Given the description of an element on the screen output the (x, y) to click on. 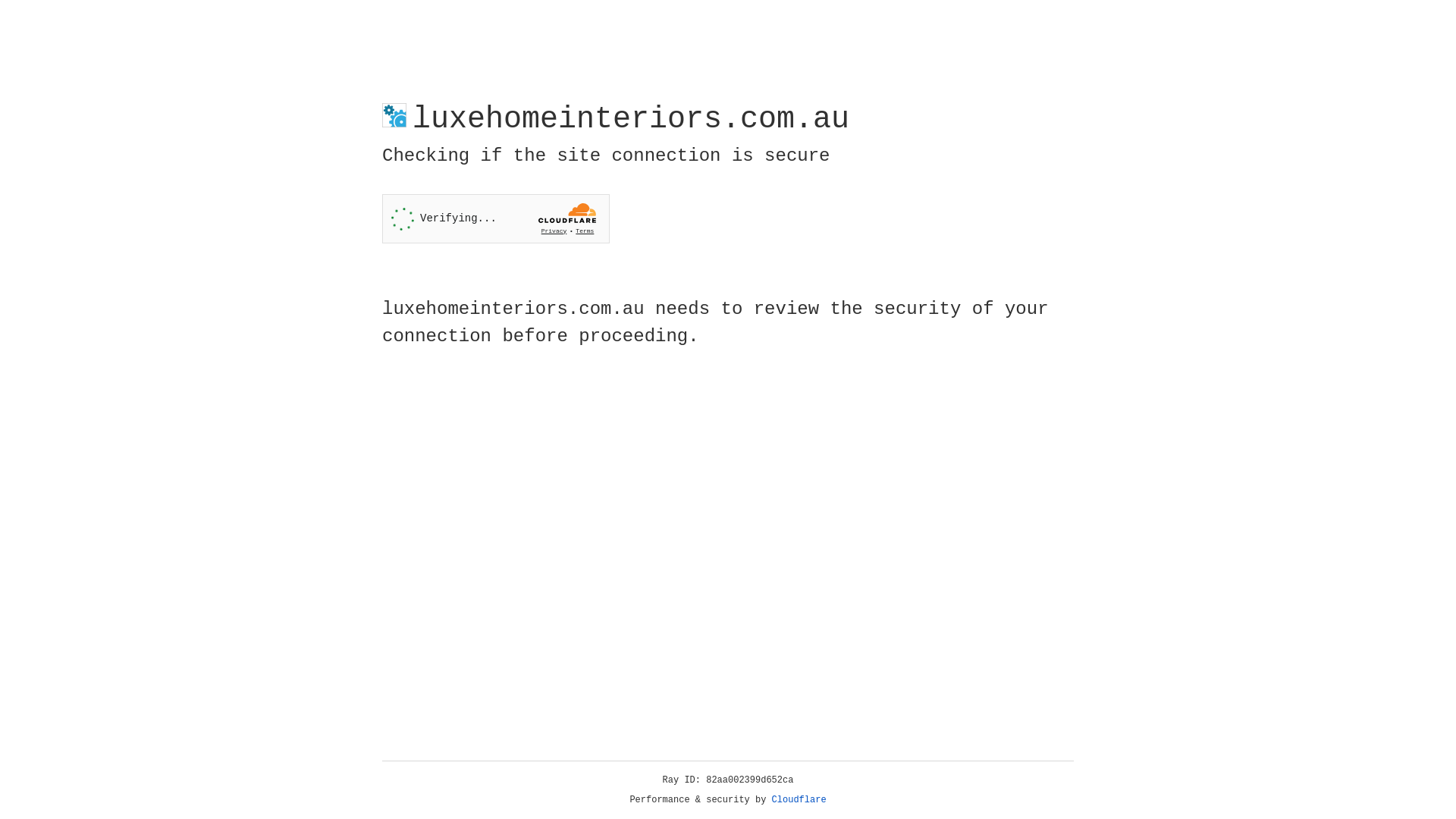
Cloudflare Element type: text (798, 799)
Widget containing a Cloudflare security challenge Element type: hover (495, 218)
